Given the description of an element on the screen output the (x, y) to click on. 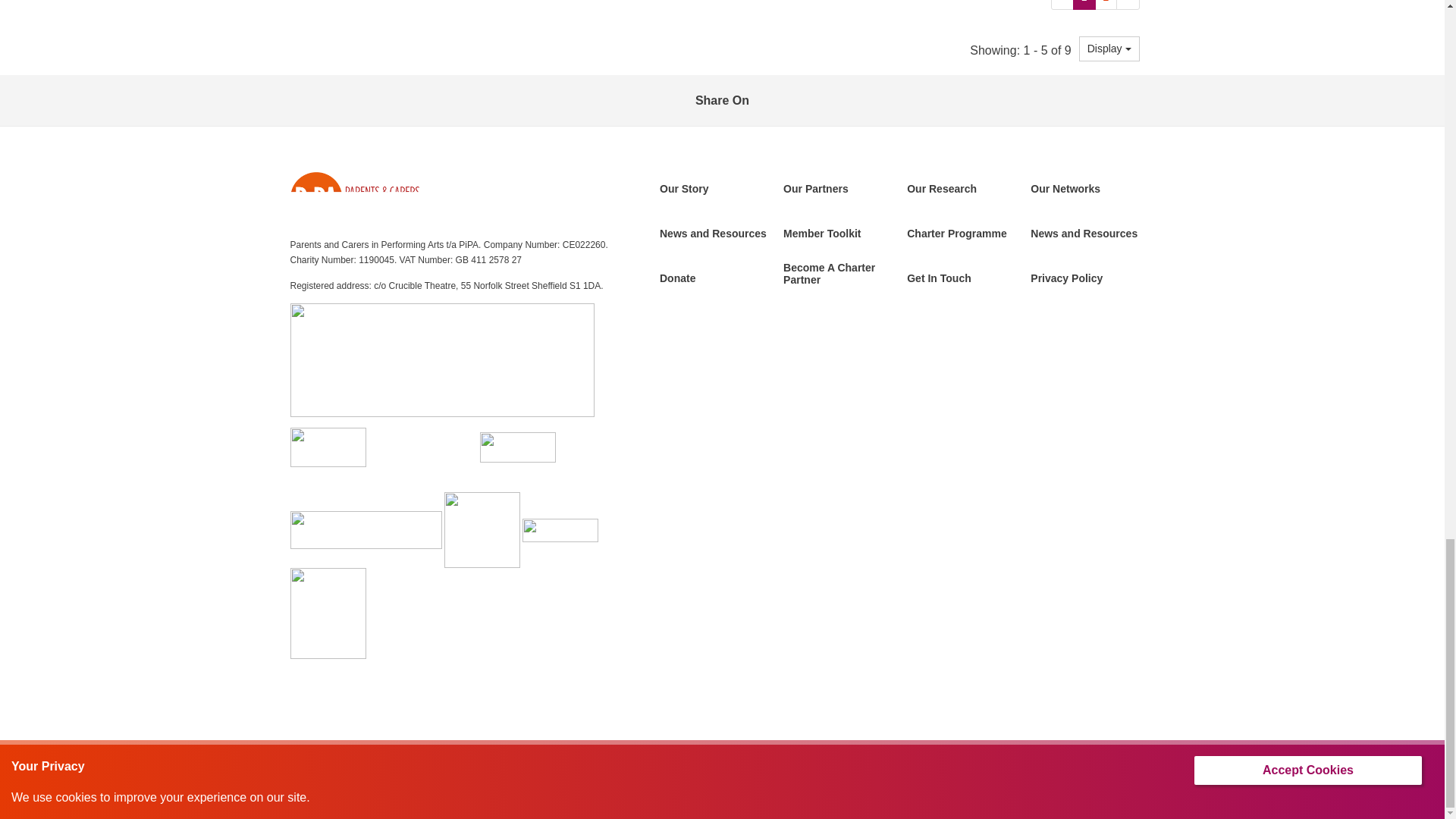
Go to page 1 (1084, 4)
Go to page 1 (1062, 4)
